Given the description of an element on the screen output the (x, y) to click on. 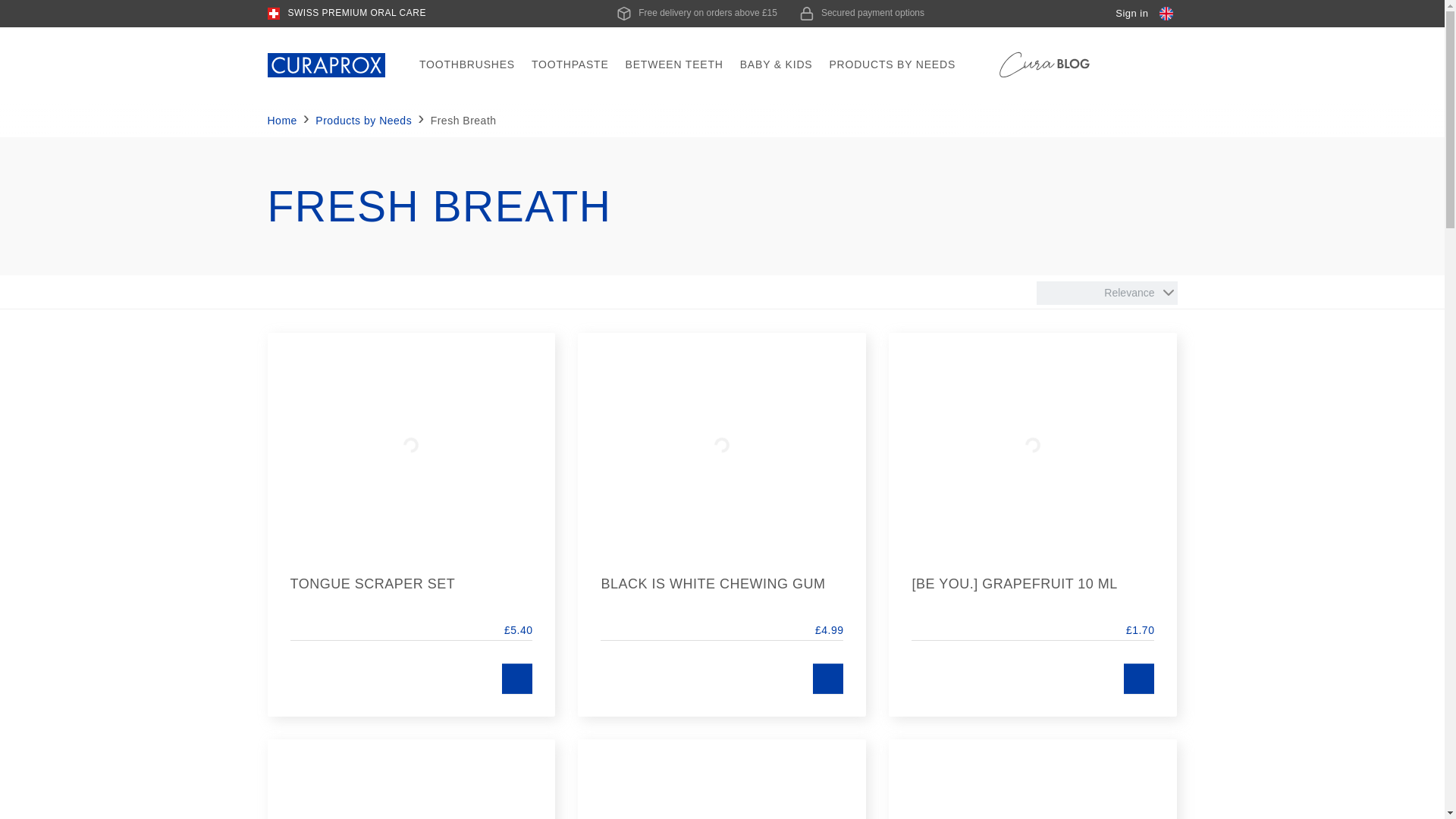
TOOTHBRUSHES (466, 64)
Sign in (1131, 13)
TOOTHPASTE (569, 64)
Log in to your customer account (1131, 13)
BETWEEN TEETH (673, 64)
